Given the description of an element on the screen output the (x, y) to click on. 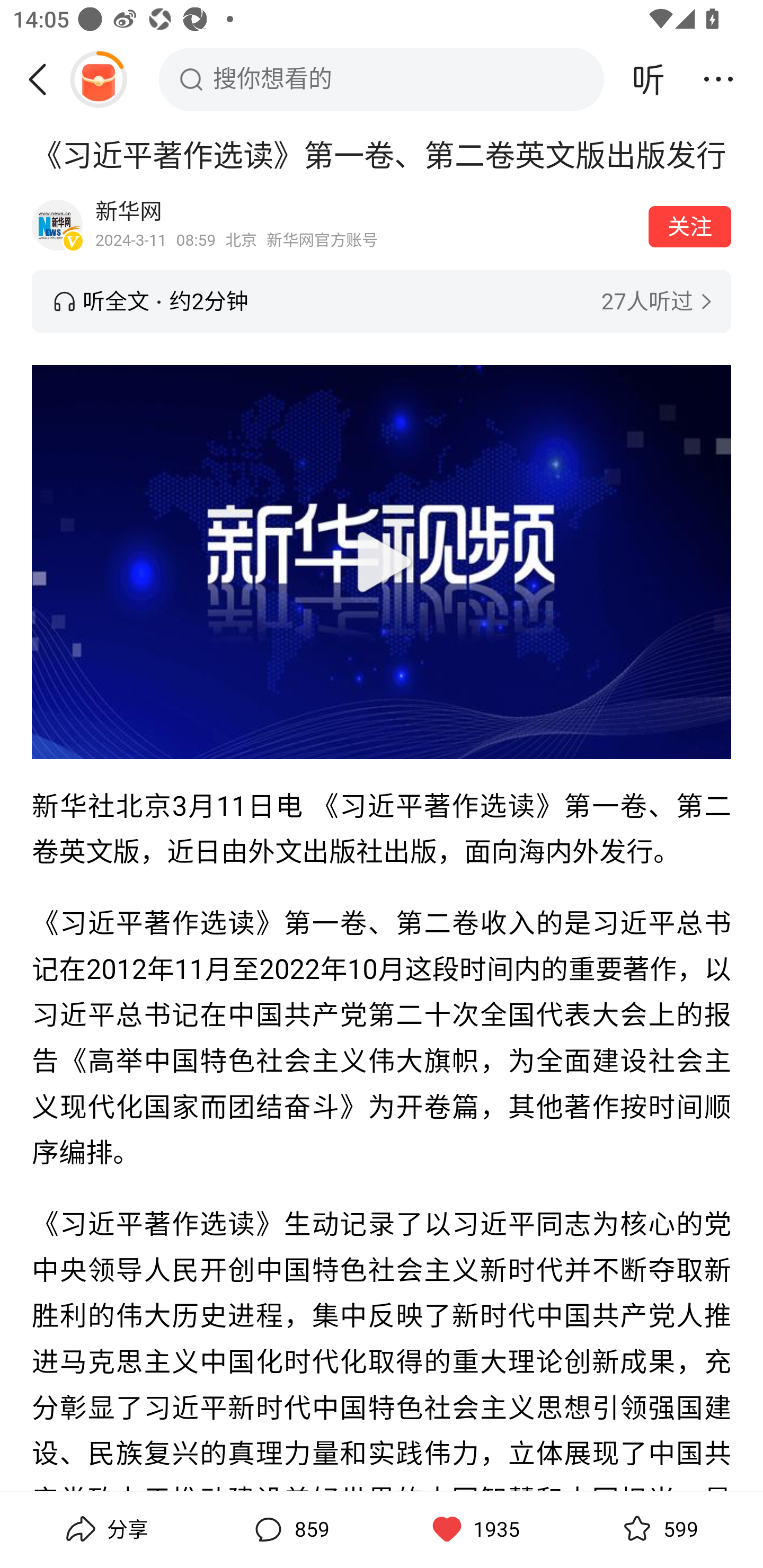
返回 (44, 78)
听头条 (648, 78)
更多操作 (718, 78)
搜你想看的 搜索框，搜你想看的 (381, 79)
阅读赚金币 (98, 79)
作者：新华网，简介：新华网官方账号，2024-3-11 08:59发布，北京 (365, 224)
关注作者 (689, 226)
听全文 约2分钟 27人听过 (381, 300)
播放视频 (381, 561)
分享 (104, 1529)
评论,859 859 (288, 1529)
收藏,599 599 (658, 1529)
